Given the description of an element on the screen output the (x, y) to click on. 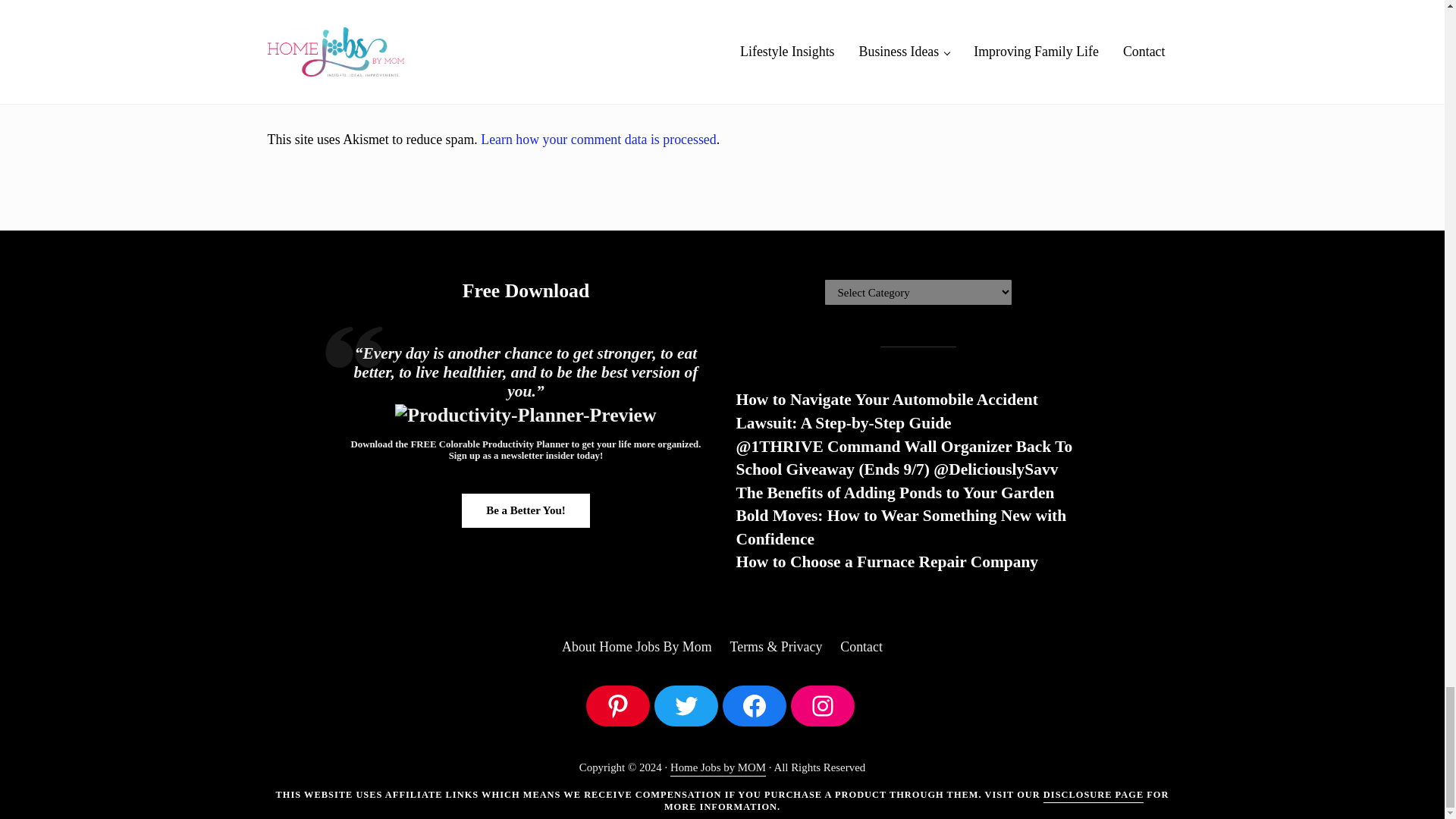
Post Comment (324, 70)
yes (274, 23)
About Home Jobs By Mom (636, 647)
